Given the description of an element on the screen output the (x, y) to click on. 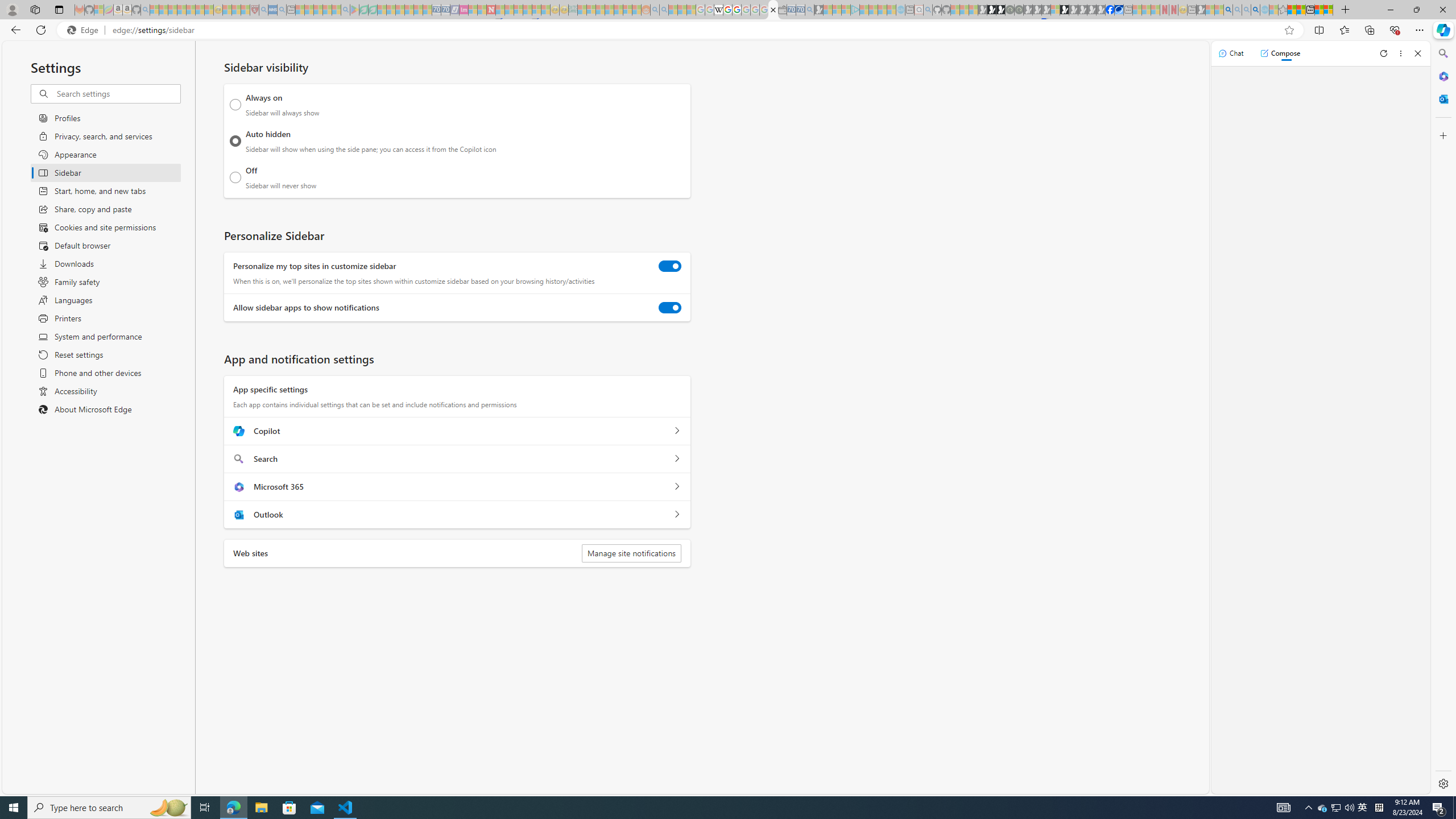
Nordace | Facebook (1109, 9)
Bing AI - Search (1227, 9)
